Given the description of an element on the screen output the (x, y) to click on. 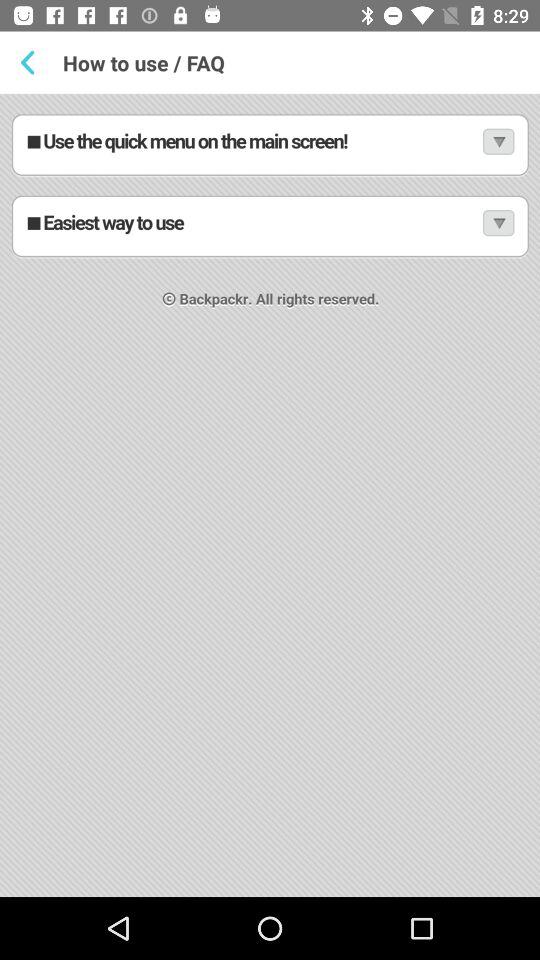
previews button (31, 62)
